Given the description of an element on the screen output the (x, y) to click on. 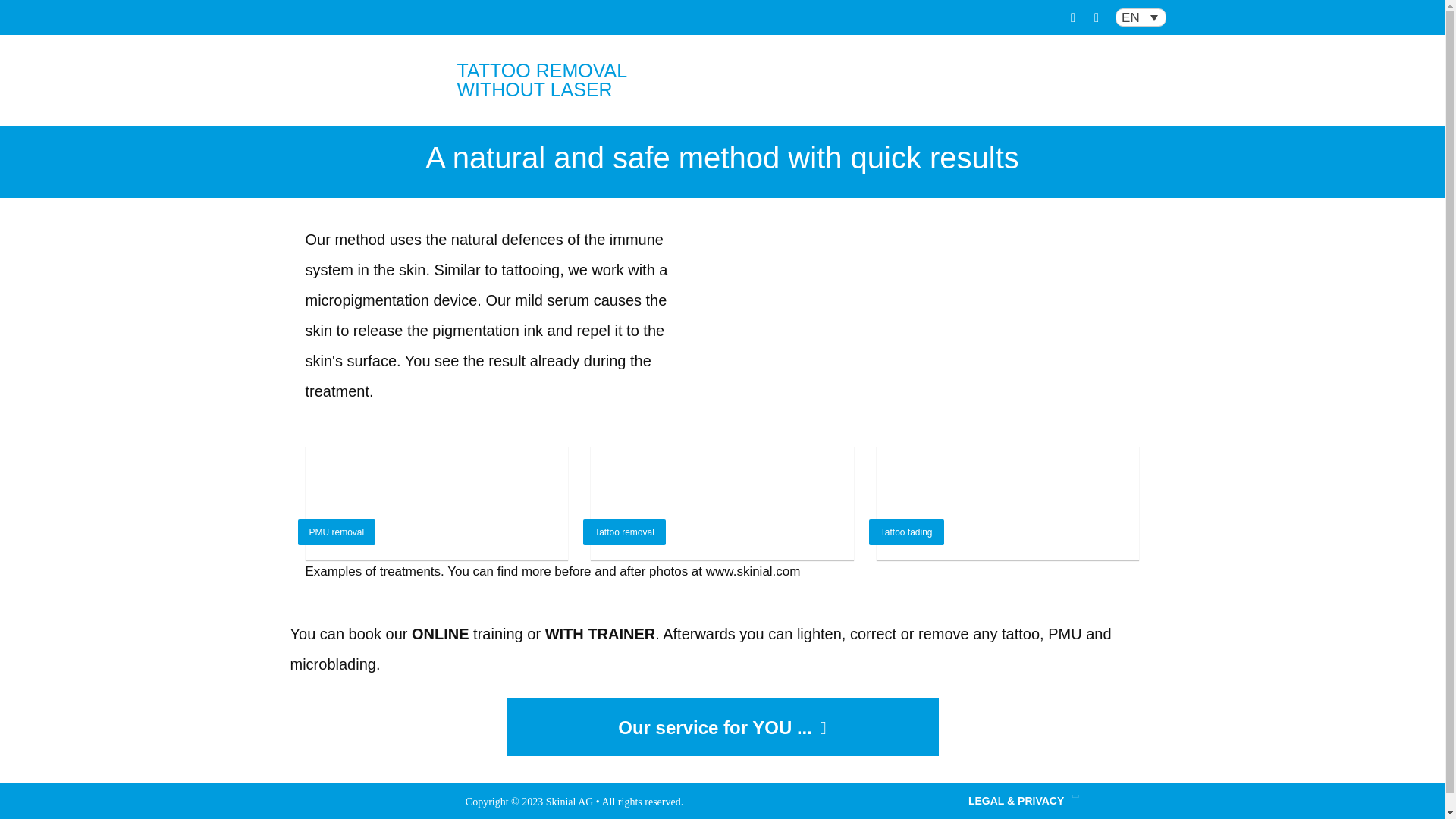
Foto 28.06.22, 14 25 51 (722, 503)
Foto 01.07.22, 10 06 09 (1008, 503)
Video 7 (943, 281)
EN (1140, 17)
Our service for YOU ... (722, 726)
Our service for YOU ... (722, 726)
Tattoo Removal Without Laser (362, 91)
Foto 01.07.22, 09 35 50 (435, 503)
